Given the description of an element on the screen output the (x, y) to click on. 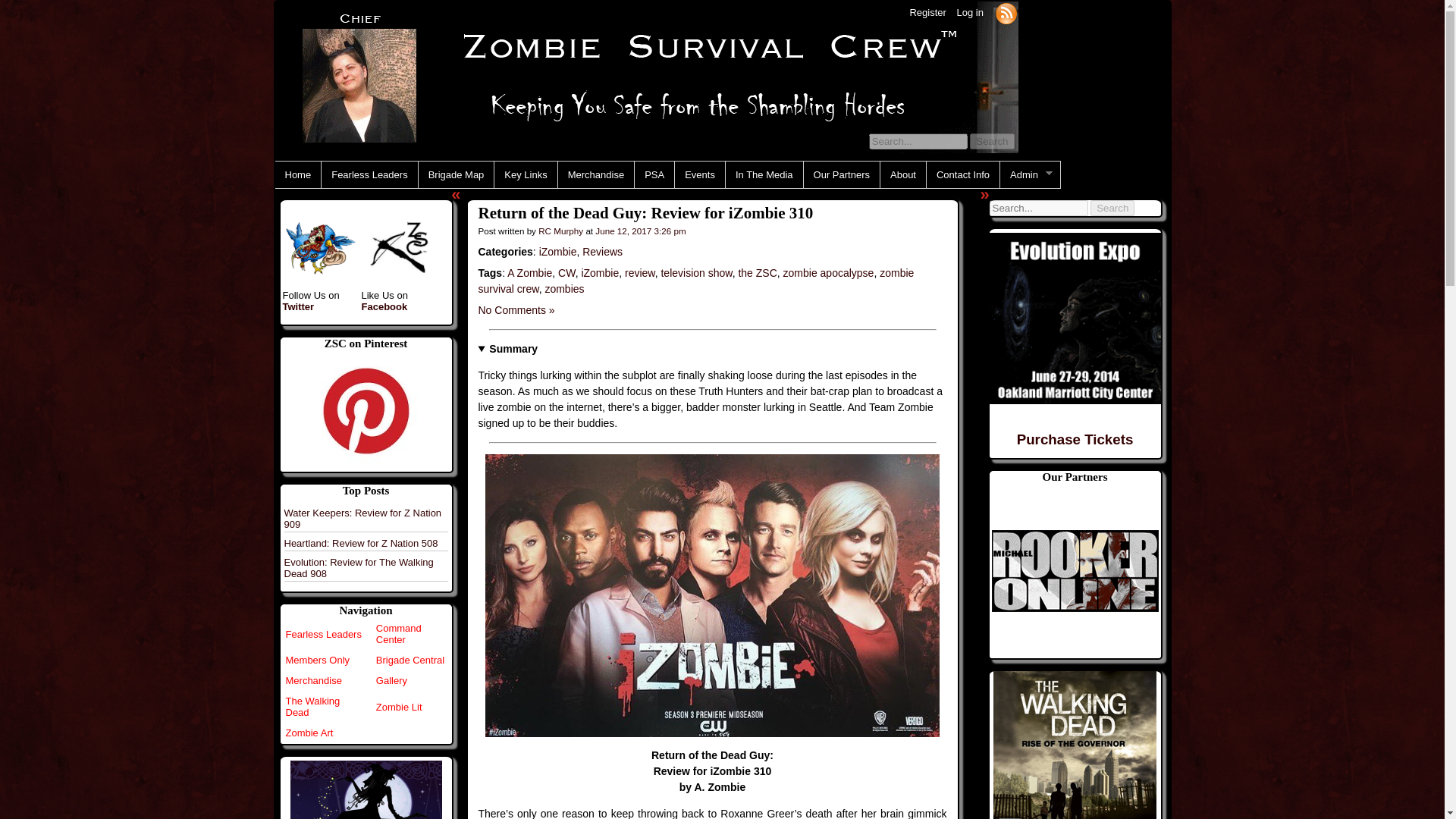
Twitter (298, 306)
Home (297, 174)
Search (991, 141)
Zombie Lit (398, 706)
PSA (654, 174)
Fearless Leaders (323, 633)
Search (1112, 207)
Contact Info (962, 174)
The Walking Dead (312, 706)
Members Only (317, 659)
About (903, 174)
Merchandise (595, 174)
Evolution: Review for The Walking Dead 908 (357, 567)
Merchandise (312, 680)
Posts by RC Murphy (560, 230)
